Given the description of an element on the screen output the (x, y) to click on. 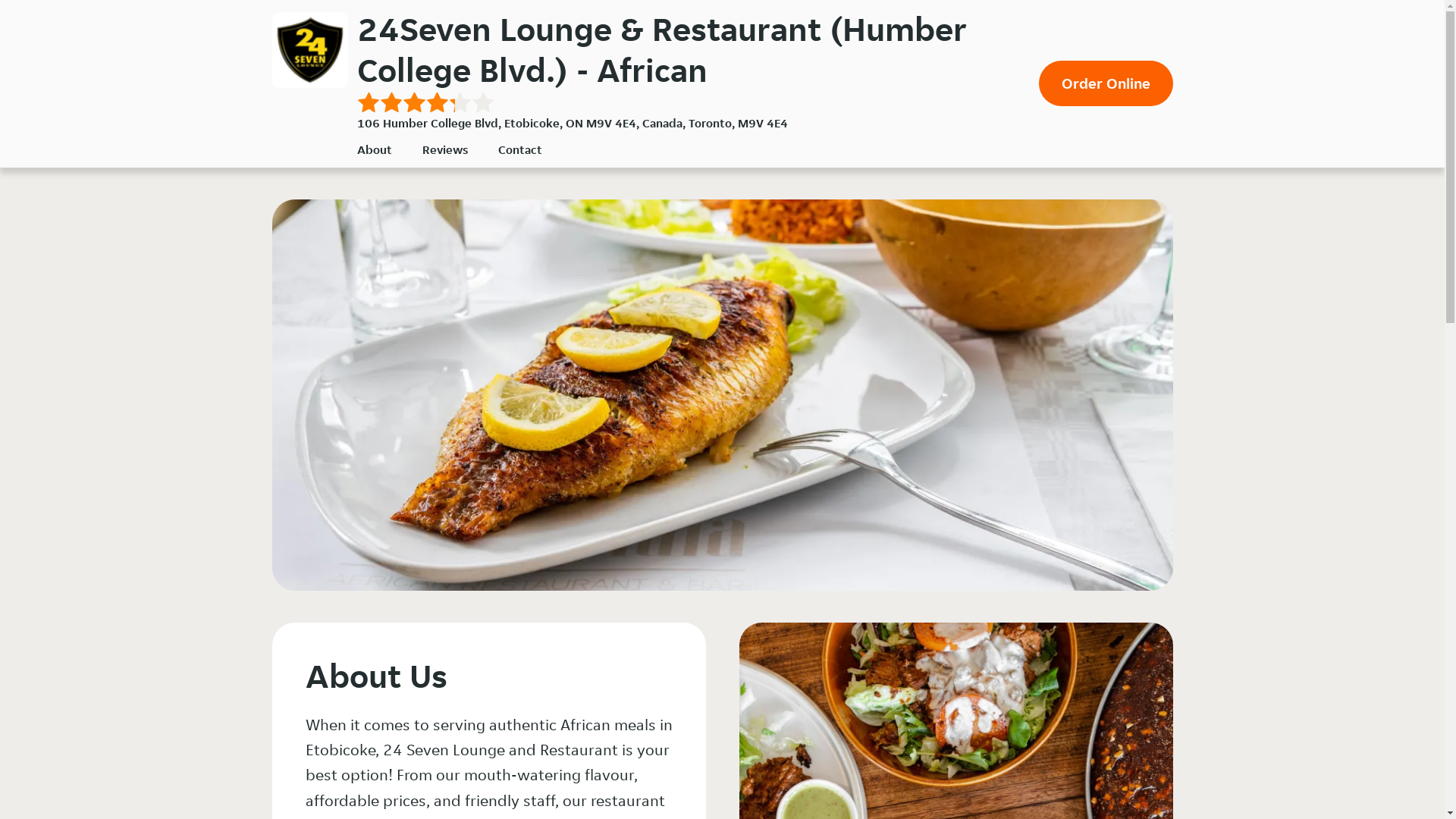
Order Online Element type: text (1105, 83)
24Seven Lounge & Restaurant (Humber College Blvd.) Element type: hover (309, 49)
About Element type: text (373, 149)
Reviews Element type: text (444, 149)
Contact Element type: text (519, 149)
